Given the description of an element on the screen output the (x, y) to click on. 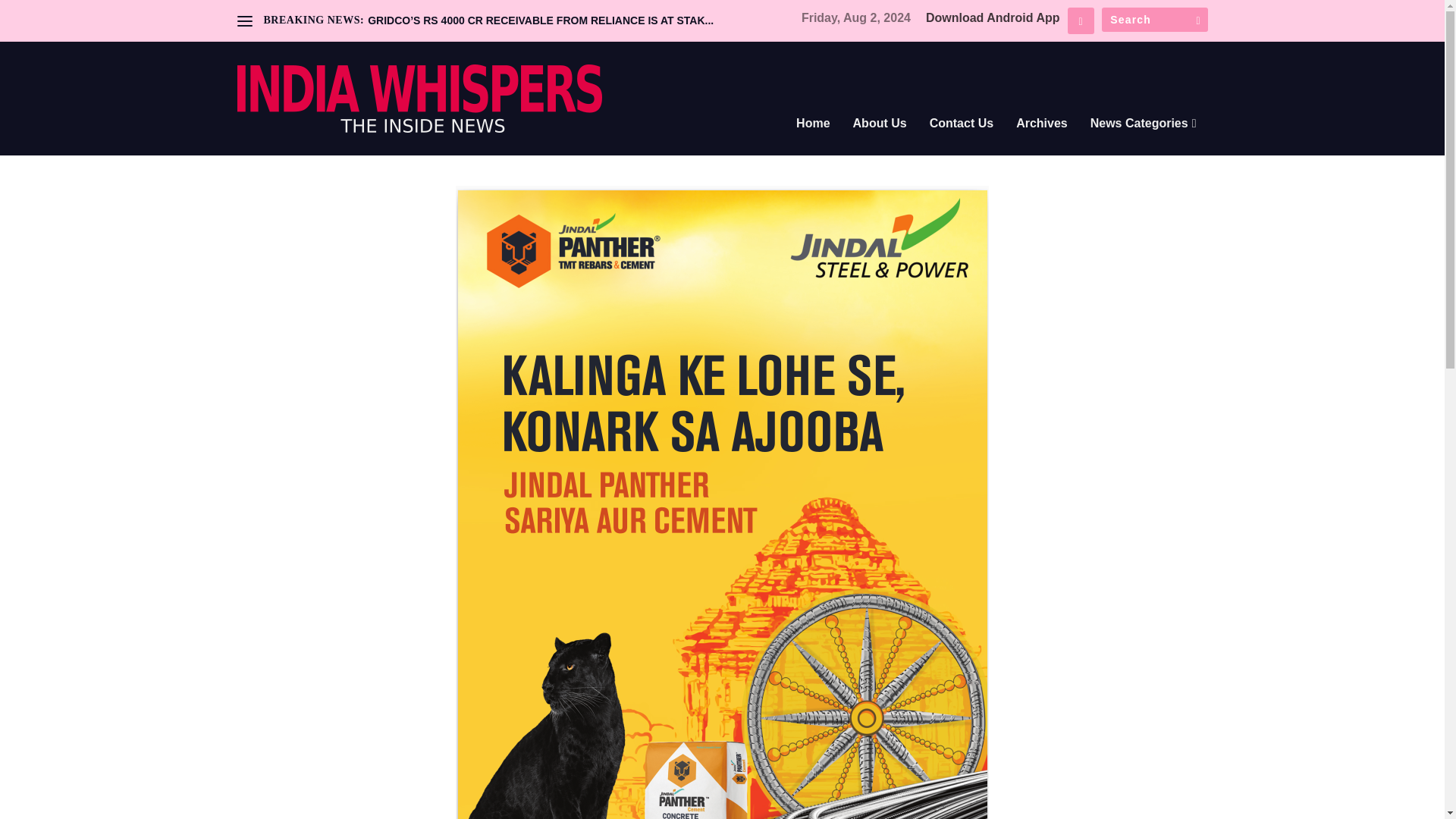
Download Android App (992, 17)
Contact Us (961, 143)
About Us (880, 143)
News Categories (1143, 143)
Search for: (1153, 19)
Archives (1041, 143)
